Given the description of an element on the screen output the (x, y) to click on. 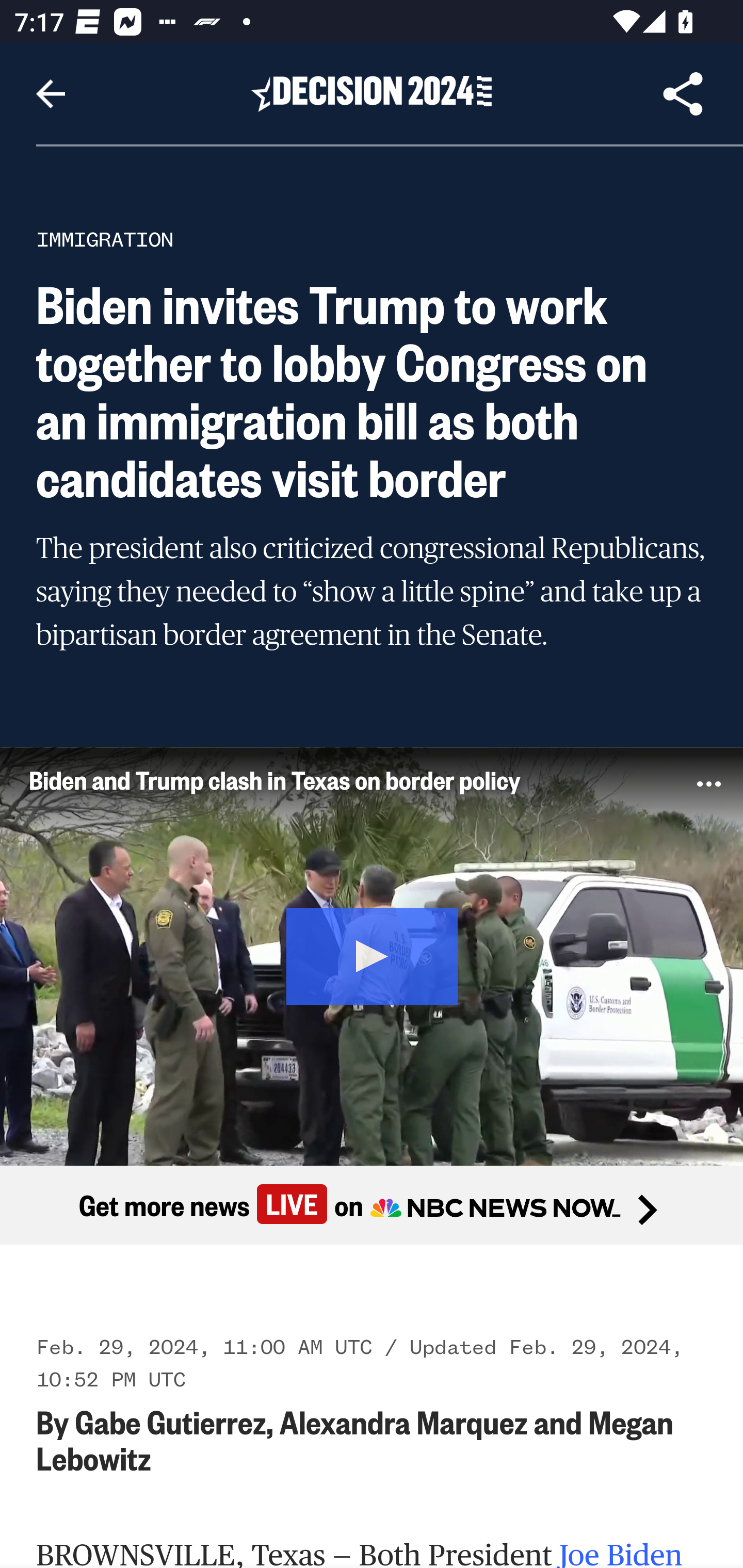
Navigate up (50, 93)
Share Article, button (683, 94)
Header, Decision 2024 (371, 93)
IMMIGRATION (105, 239)
Video Player Unable to play media. Play   (371, 955)
Biden and Trump clash in Texas on border policy (336, 779)
Play (372, 954)
Get more news Live on Get more news Live on (371, 1203)
Megan Lebowitz (355, 1439)
Joe Biden (620, 1553)
